Given the description of an element on the screen output the (x, y) to click on. 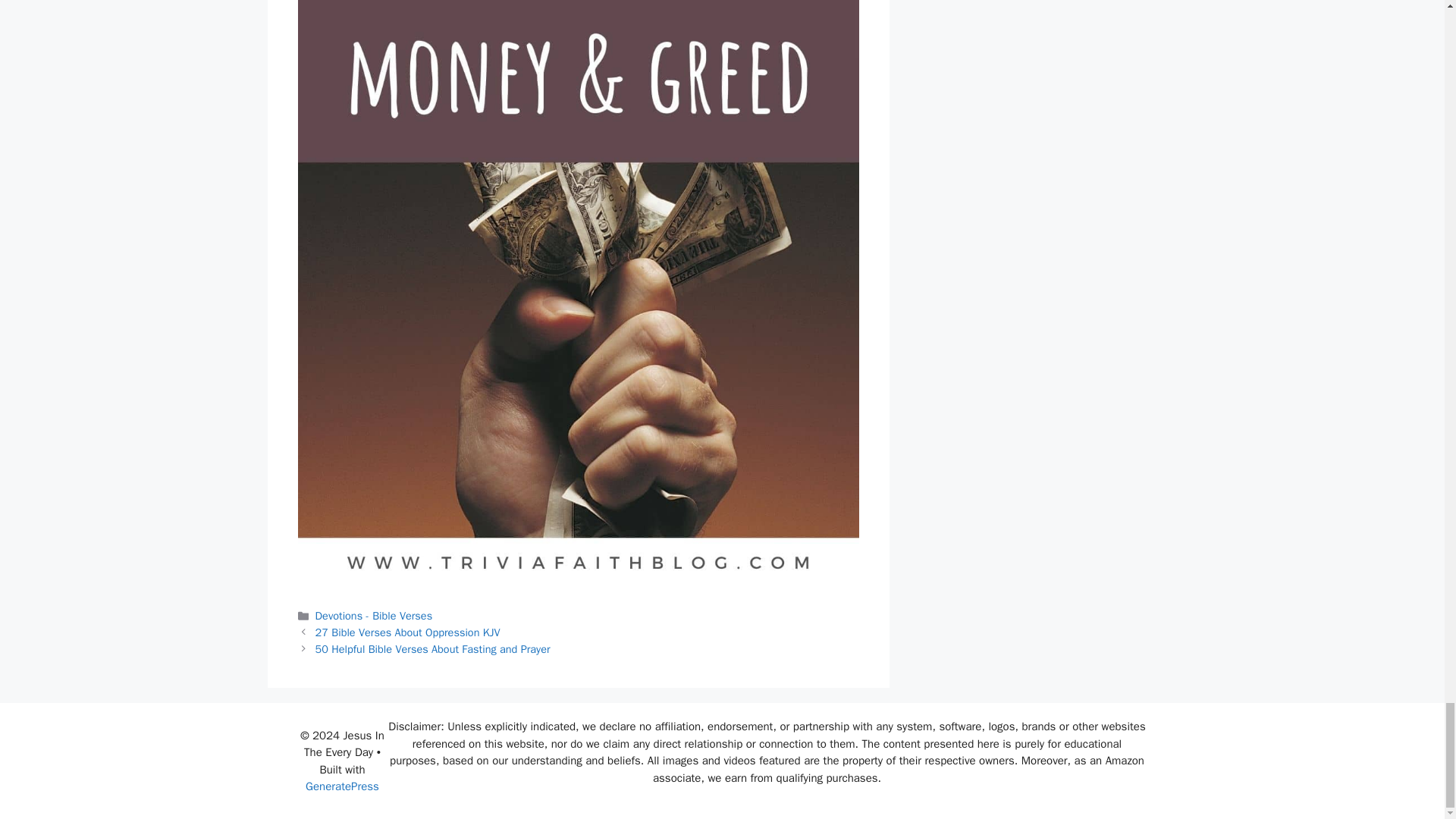
50 Helpful Bible Verses About Fasting and Prayer (432, 649)
Devotions - Bible Verses (373, 615)
GeneratePress (341, 786)
27 Bible Verses About Oppression KJV (407, 632)
